Given the description of an element on the screen output the (x, y) to click on. 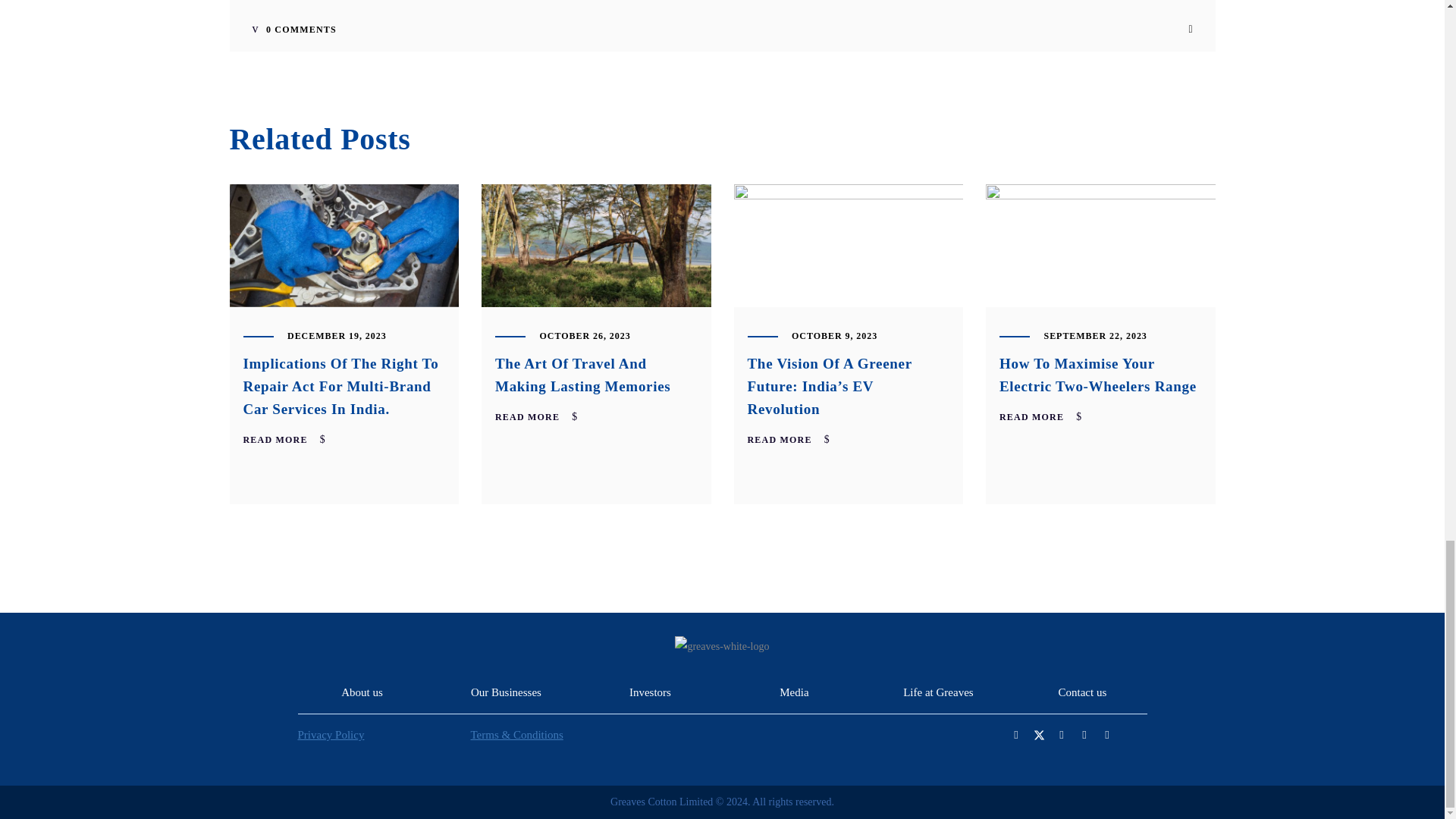
The Art of Travel and Making Lasting Memories (596, 245)
How To Maximise Your Electric Two-Wheelers Range (1100, 245)
greaves-white-logo (721, 646)
The Art of Travel and Making Lasting Memories (582, 374)
How To Maximise Your Electric Two-Wheelers Range (1097, 374)
